Given the description of an element on the screen output the (x, y) to click on. 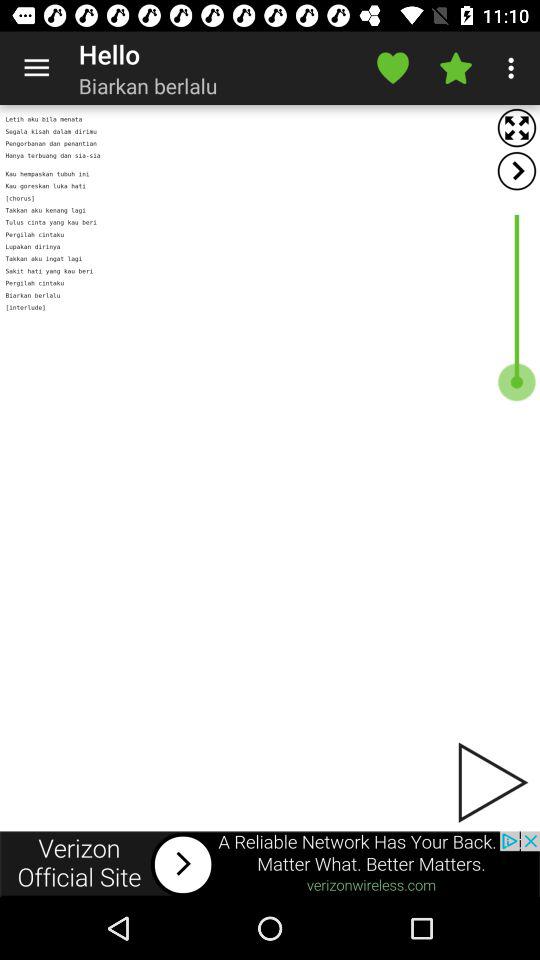
the button will continue the page (491, 782)
